Given the description of an element on the screen output the (x, y) to click on. 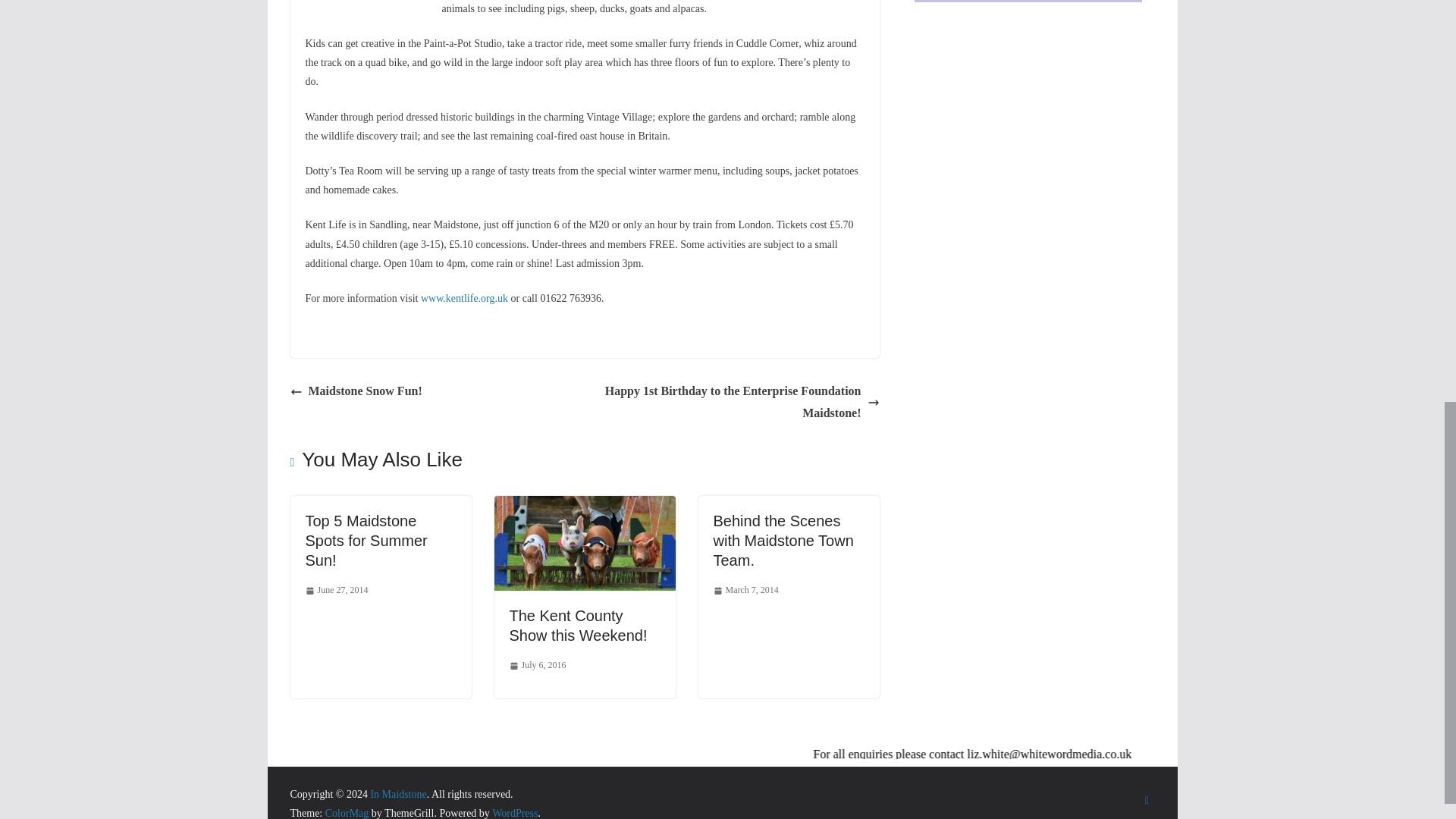
10:28 am (537, 665)
July 6, 2016 (537, 665)
The Kent County Show this Weekend! (578, 625)
Behind the Scenes with Maidstone Town Team. (783, 540)
12:00 pm (336, 590)
The Kent County Show this Weekend! (585, 505)
The Kent County Show this Weekend! (578, 625)
June 27, 2014 (336, 590)
Top 5 Maidstone Spots for Summer Sun! (365, 540)
www.kentlife.org.uk (464, 297)
